Given the description of an element on the screen output the (x, y) to click on. 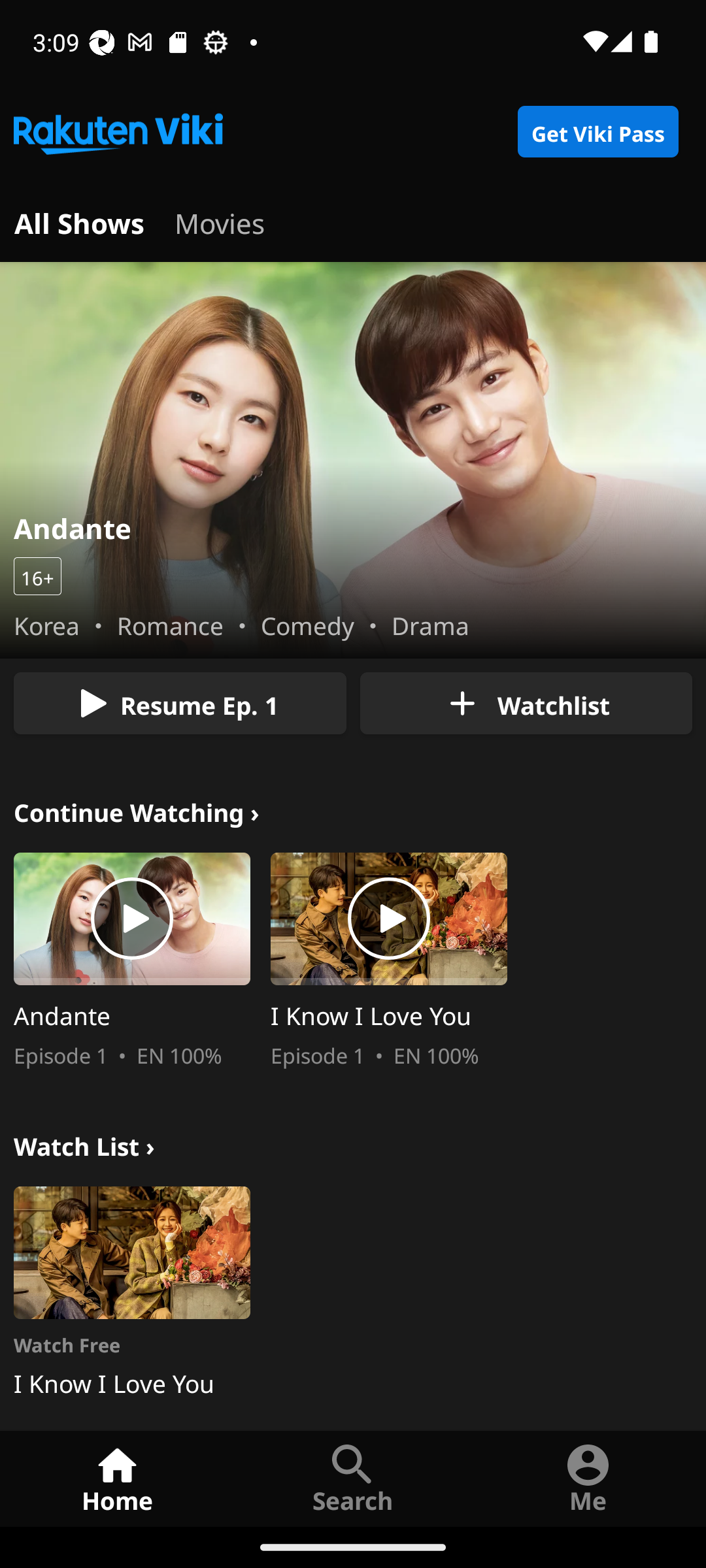
Get Viki Pass (597, 131)
home_tab_movies Movies (219, 220)
Resume Ep. 1 home_billboard_play_button (179, 702)
Watchlist home_billboard_add_to_watchlist_button (526, 702)
Continue Watching › continue_watching (136, 809)
Watch List › watch_list (84, 1143)
Search (352, 1478)
Me (588, 1478)
